Given the description of an element on the screen output the (x, y) to click on. 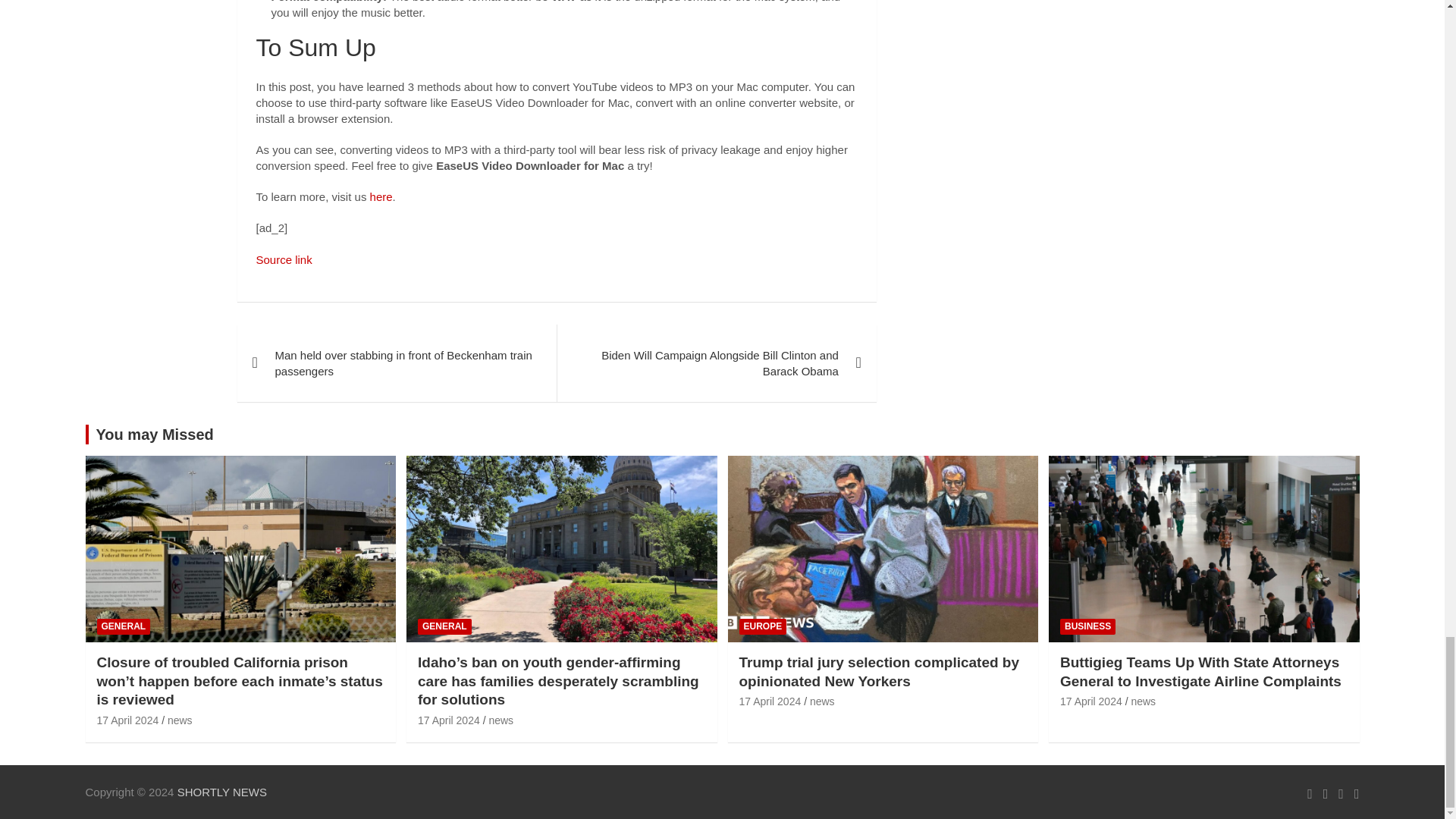
SHORTLY NEWS (221, 791)
